Given the description of an element on the screen output the (x, y) to click on. 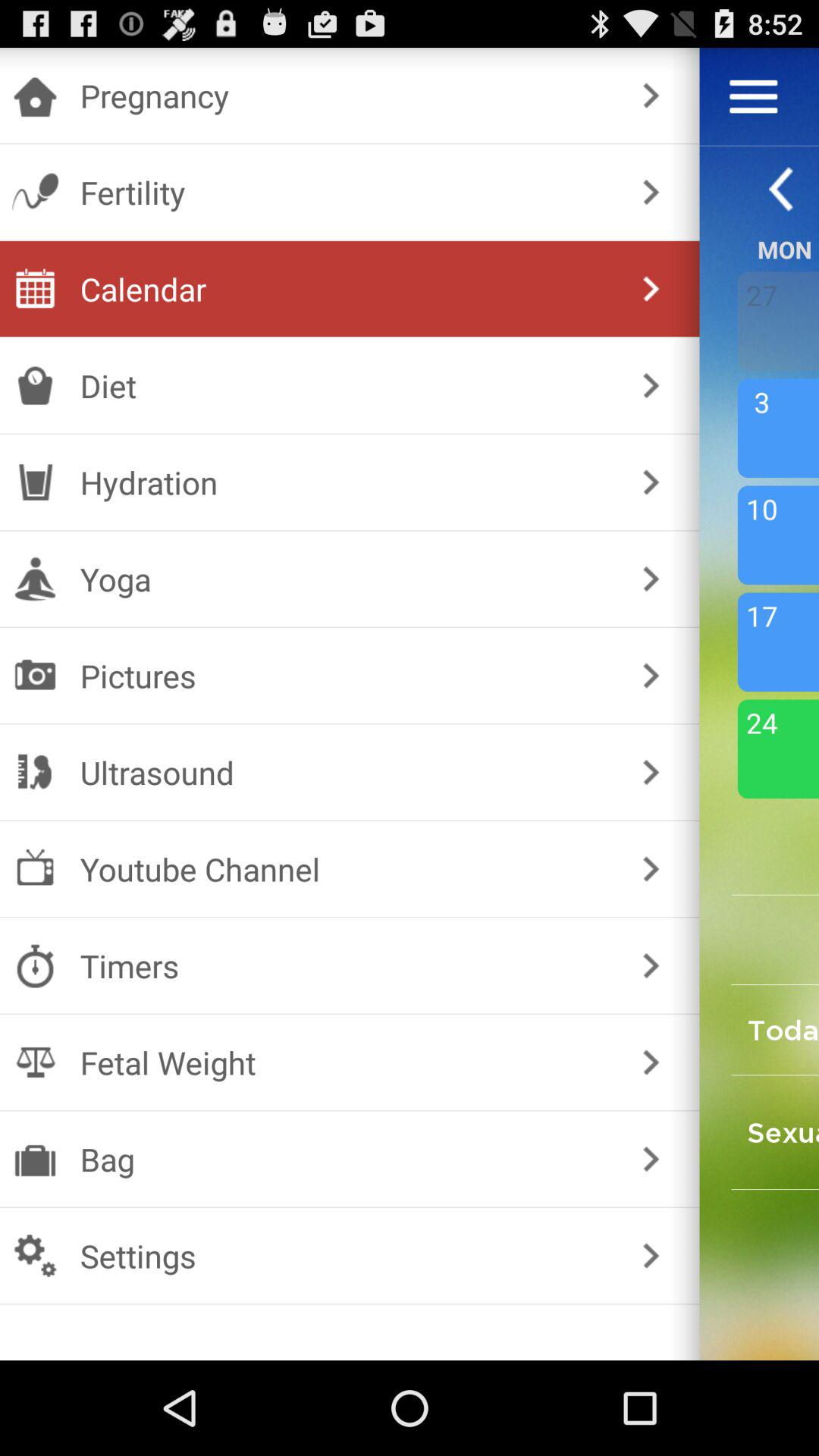
tap the item above youtube channel icon (346, 771)
